Given the description of an element on the screen output the (x, y) to click on. 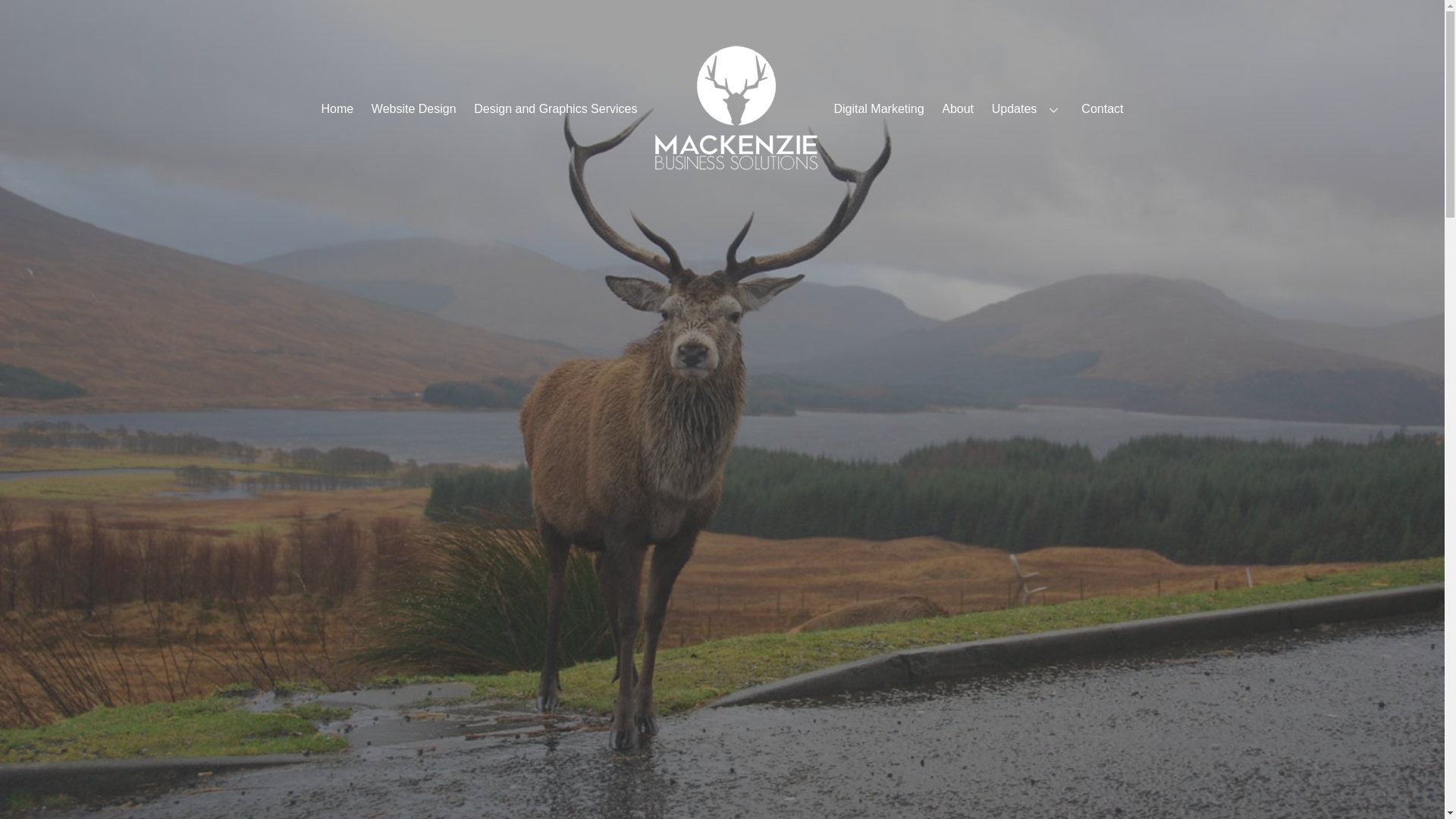
Website Design (413, 108)
Design and Graphics Services (556, 108)
Updates (1027, 108)
Digital Marketing (879, 108)
MacKenzie Business Solutions (735, 108)
Home (337, 108)
Contact (1102, 108)
About (957, 108)
